Given the description of an element on the screen output the (x, y) to click on. 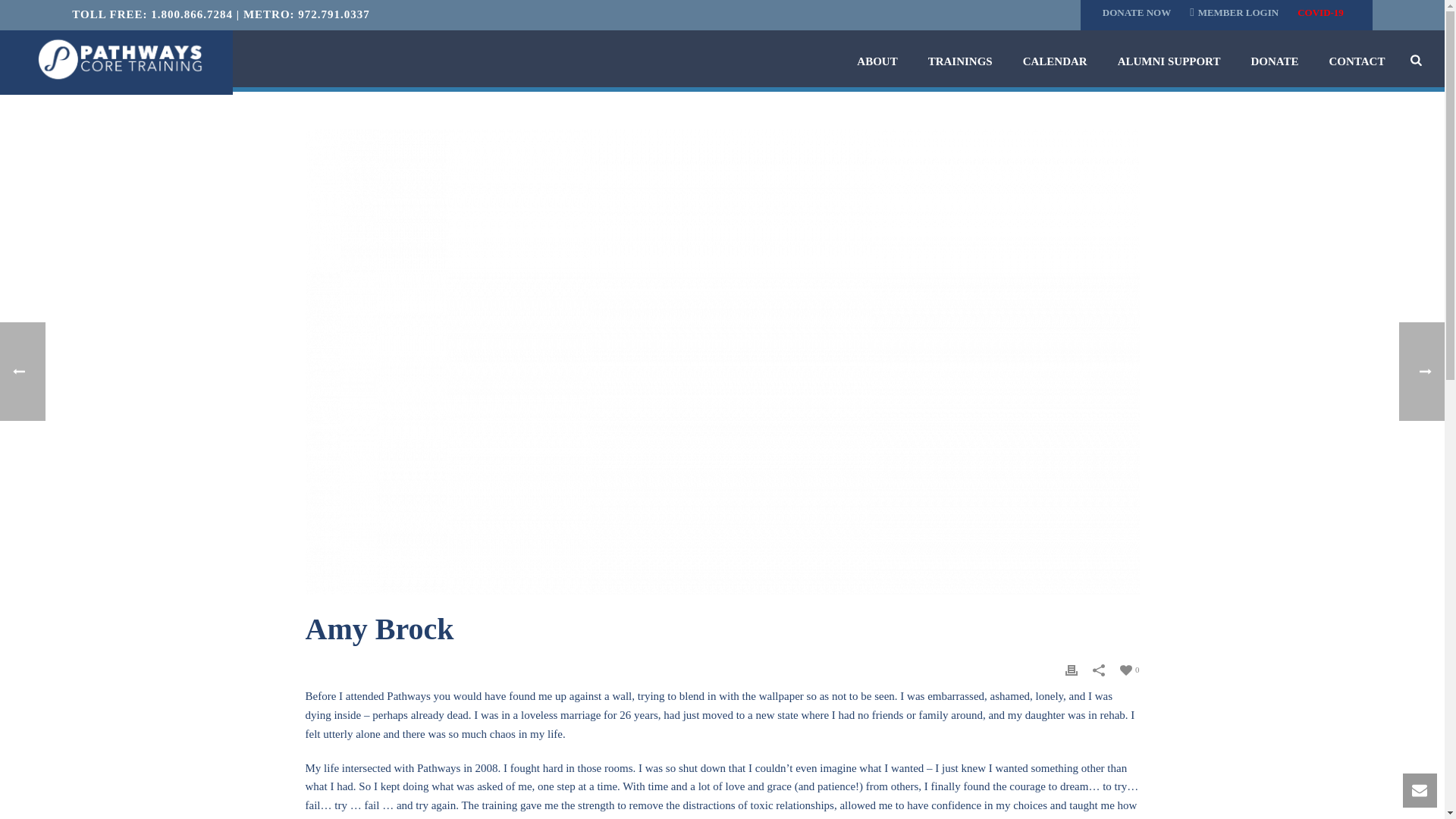
972.791.0337 (333, 14)
ABOUT (876, 62)
TRAININGS (959, 62)
1.800.866.7284 (191, 14)
DONATE (1273, 62)
MEMBER LOGIN (1242, 12)
TRAININGS (959, 62)
CALENDAR (1054, 62)
COVID-19 (1324, 12)
ABOUT (876, 62)
